Given the description of an element on the screen output the (x, y) to click on. 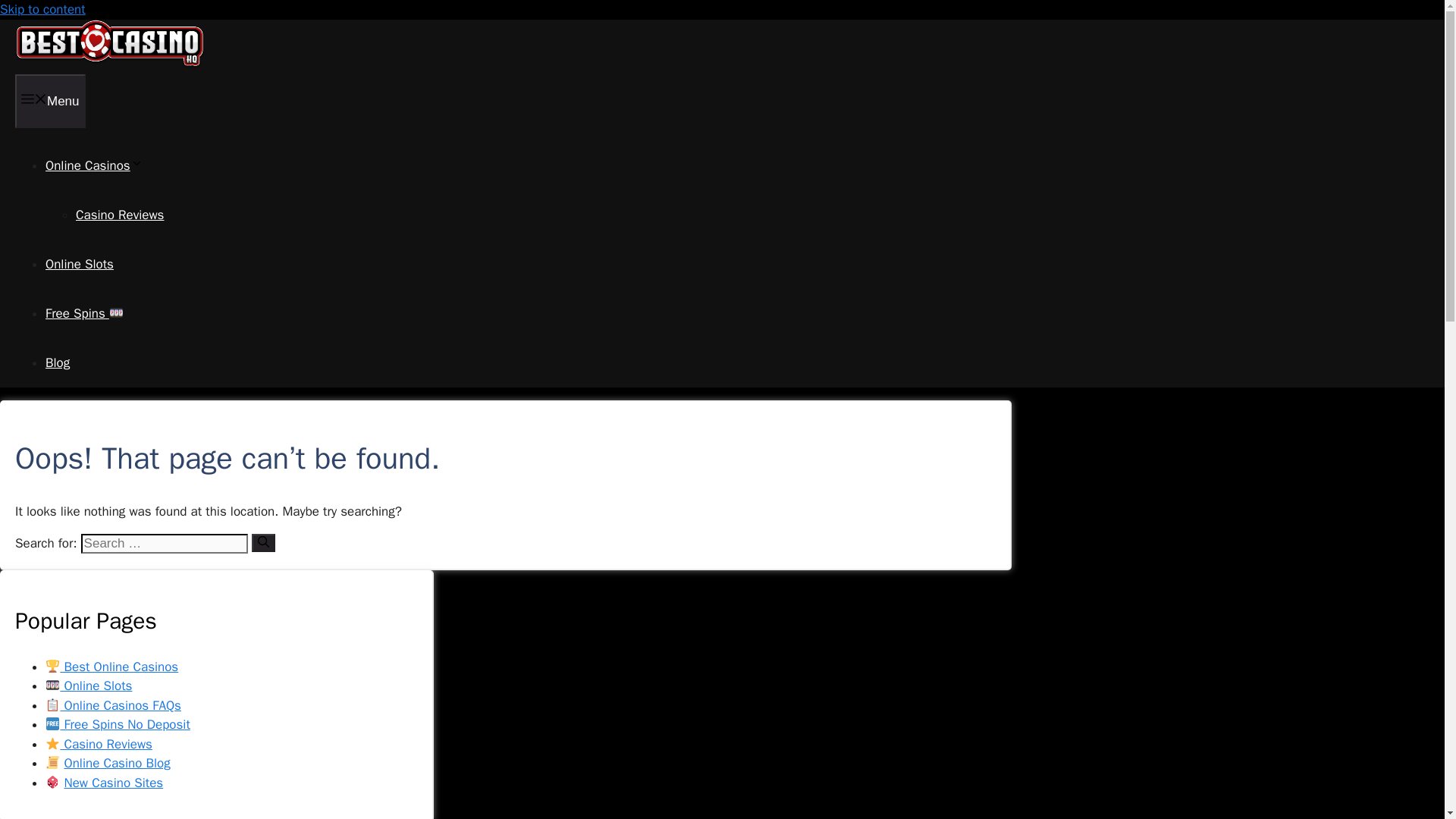
New Casino Sites (113, 782)
Online Casinos (93, 165)
Online Casinos FAQs (112, 705)
BestCasinoHQ (109, 43)
Casino Reviews (119, 214)
Free Spins (84, 313)
Best Online Casinos (111, 666)
Online Casino Blog (117, 763)
Menu (49, 100)
BestCasinoHQ (109, 64)
Online Slots (88, 685)
Casino Reviews (98, 744)
Skip to content (42, 9)
Online Slots (79, 263)
Free Spins No Deposit (117, 724)
